Given the description of an element on the screen output the (x, y) to click on. 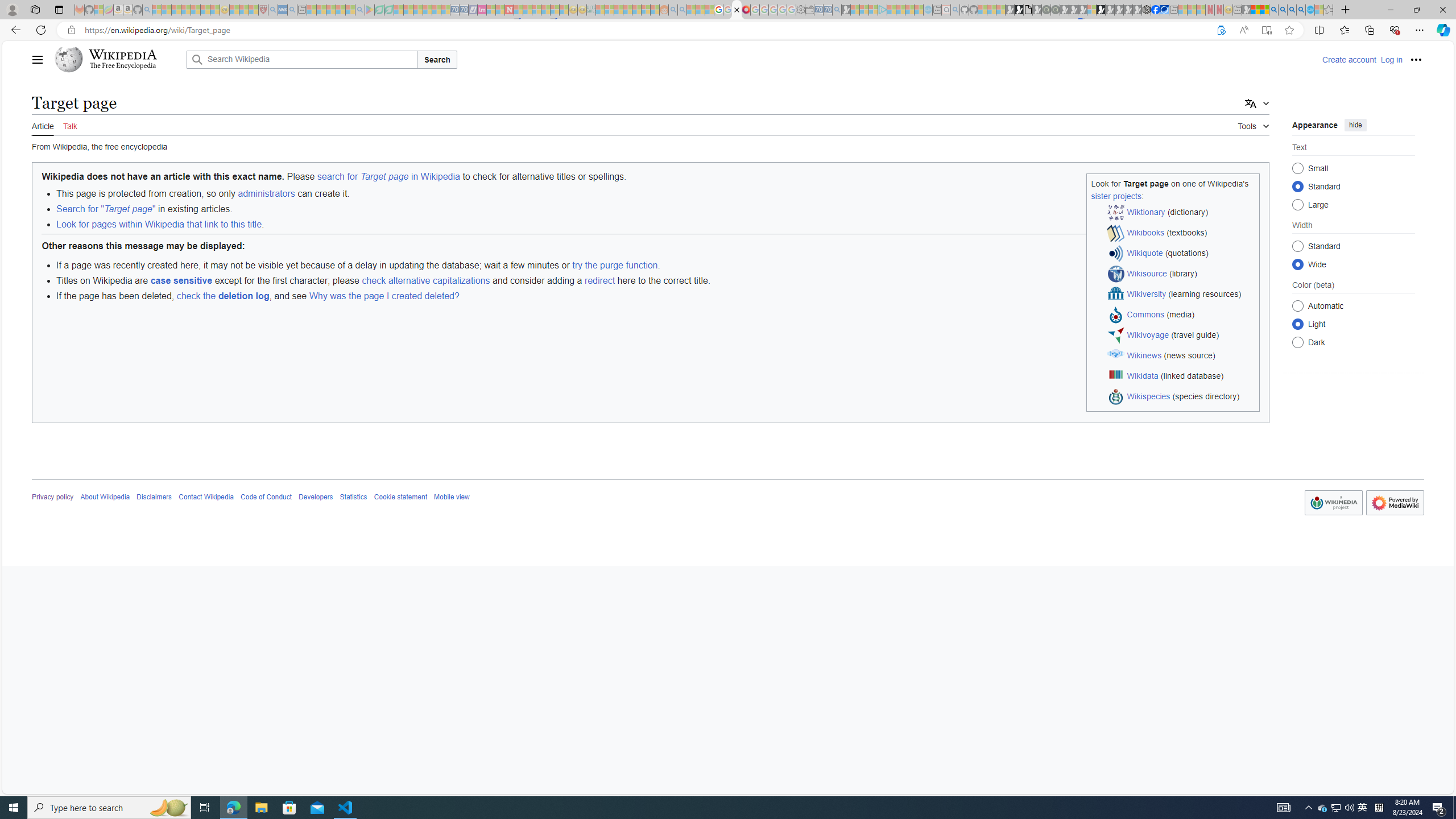
Wikivoyage (1147, 334)
2009 Bing officially replaced Live Search on June 3 - Search (1283, 9)
Favorites - Sleeping (1328, 9)
Large (1297, 204)
Search for "Target page" in existing articles. (657, 209)
Wikisource (1146, 273)
About Wikipedia (104, 496)
